Given the description of an element on the screen output the (x, y) to click on. 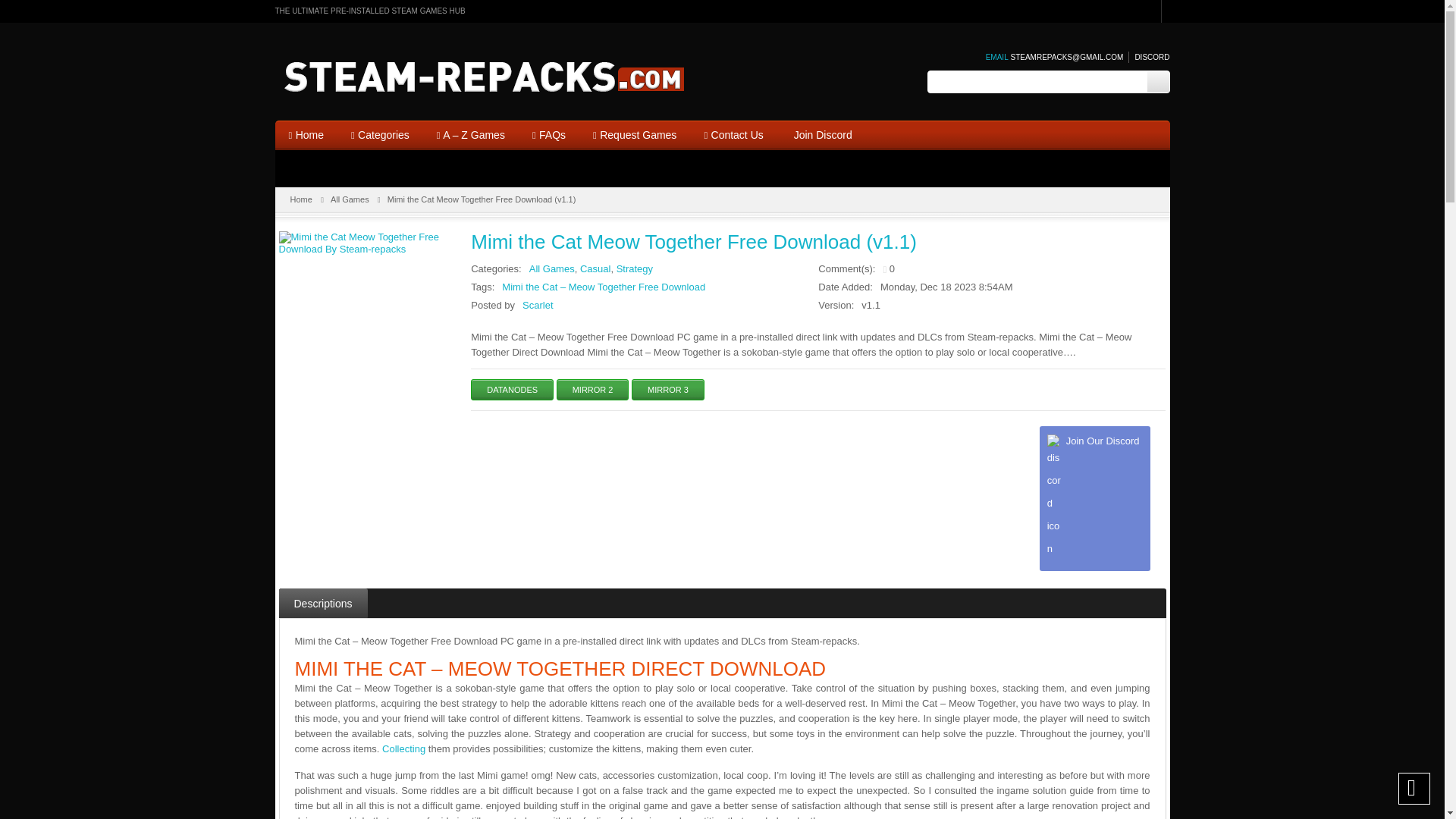
Posts by Scarlet (537, 305)
Search (1158, 81)
DISCORD (1148, 57)
Steam-Repacks (495, 76)
Home (305, 135)
Categories (380, 135)
